Given the description of an element on the screen output the (x, y) to click on. 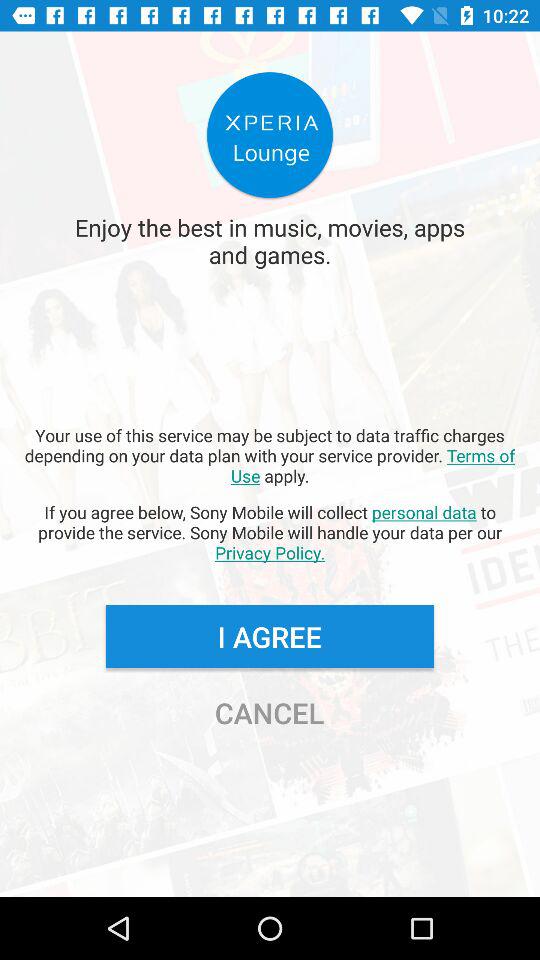
flip until the if you agree app (270, 532)
